Given the description of an element on the screen output the (x, y) to click on. 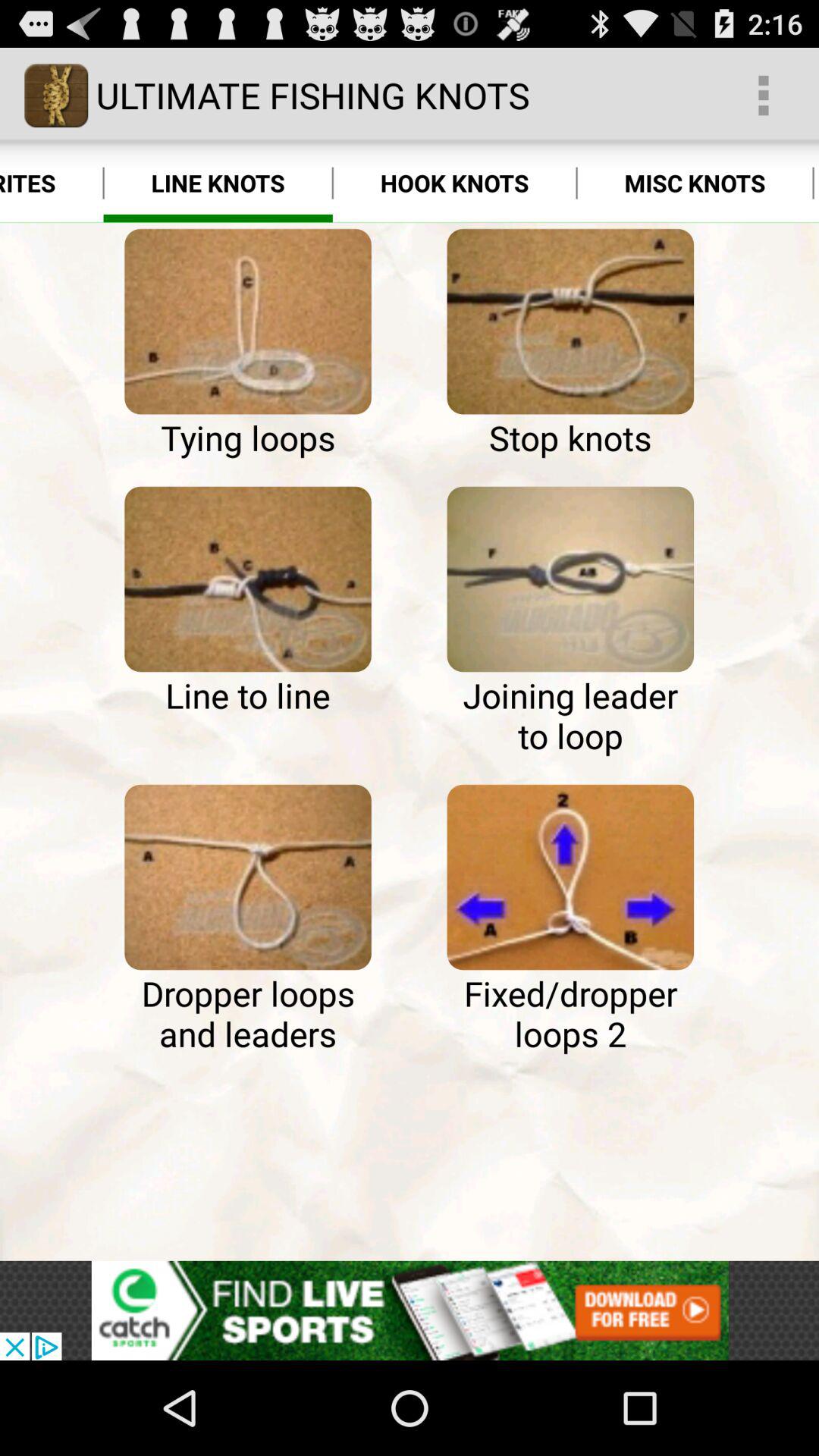
open stop knots (570, 321)
